Given the description of an element on the screen output the (x, y) to click on. 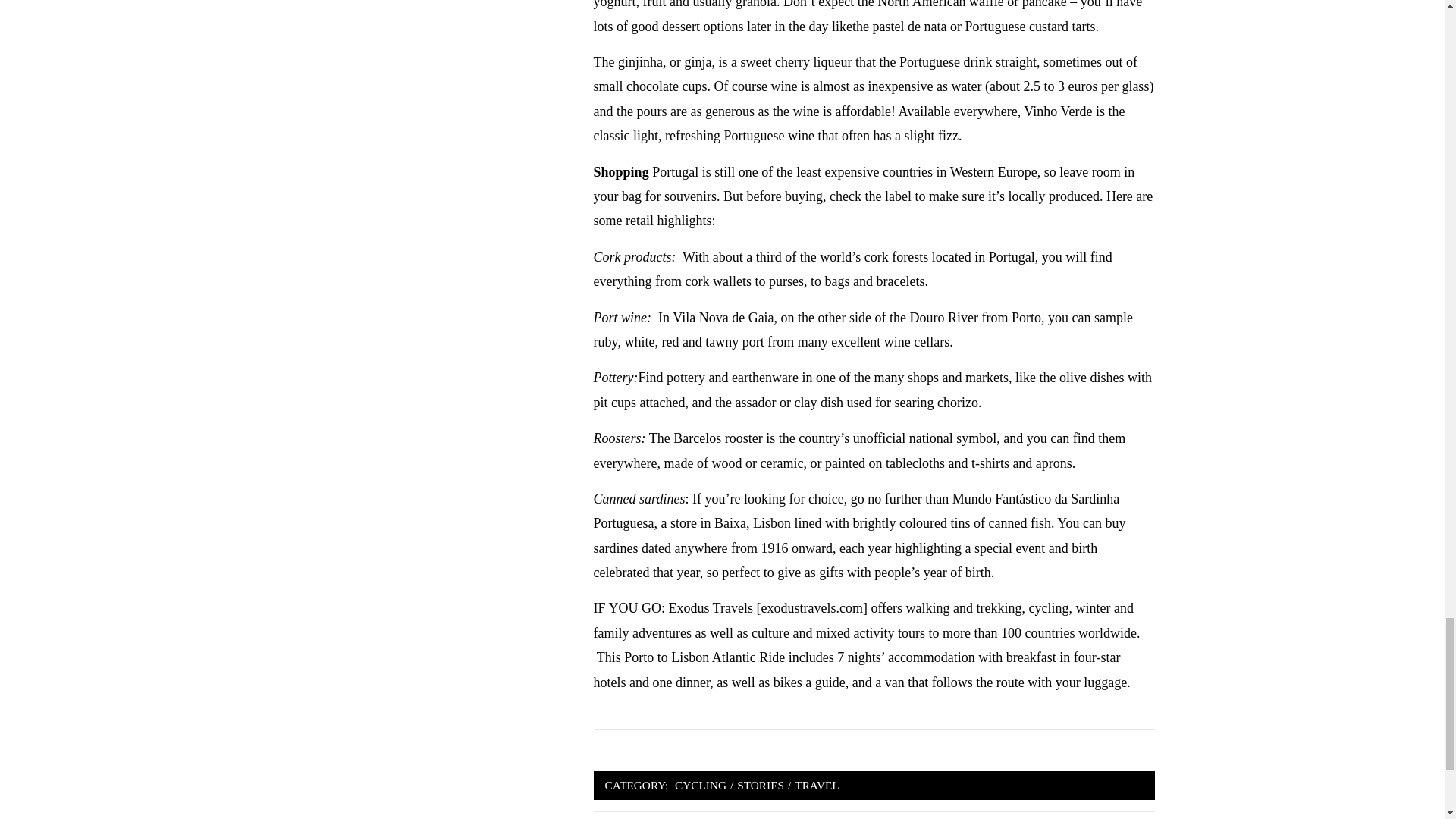
CYCLING (700, 785)
STORIES (760, 785)
TRAVEL (816, 785)
